Given the description of an element on the screen output the (x, y) to click on. 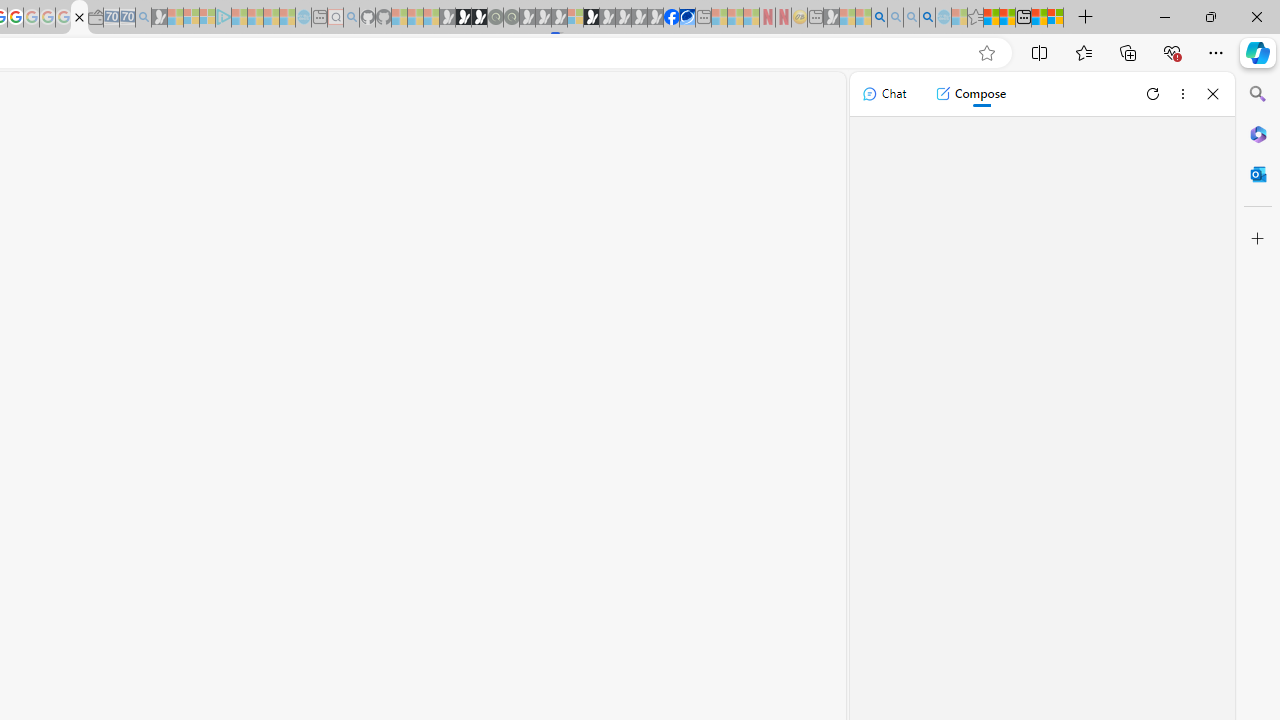
Google Chrome Internet Browser Download - Search Images (927, 17)
AirNow.gov (687, 17)
